Given the description of an element on the screen output the (x, y) to click on. 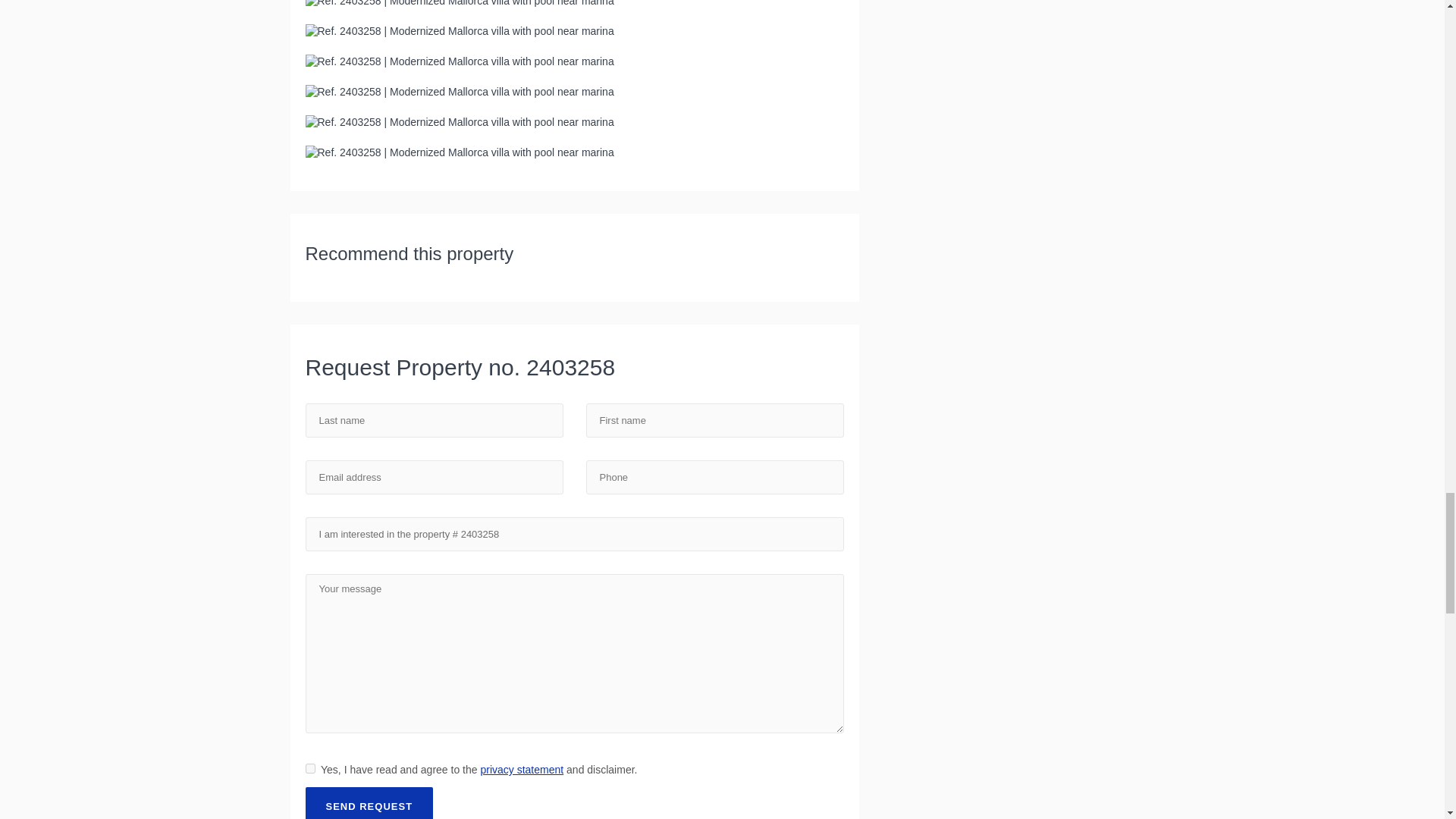
Ja (309, 768)
